Given the description of an element on the screen output the (x, y) to click on. 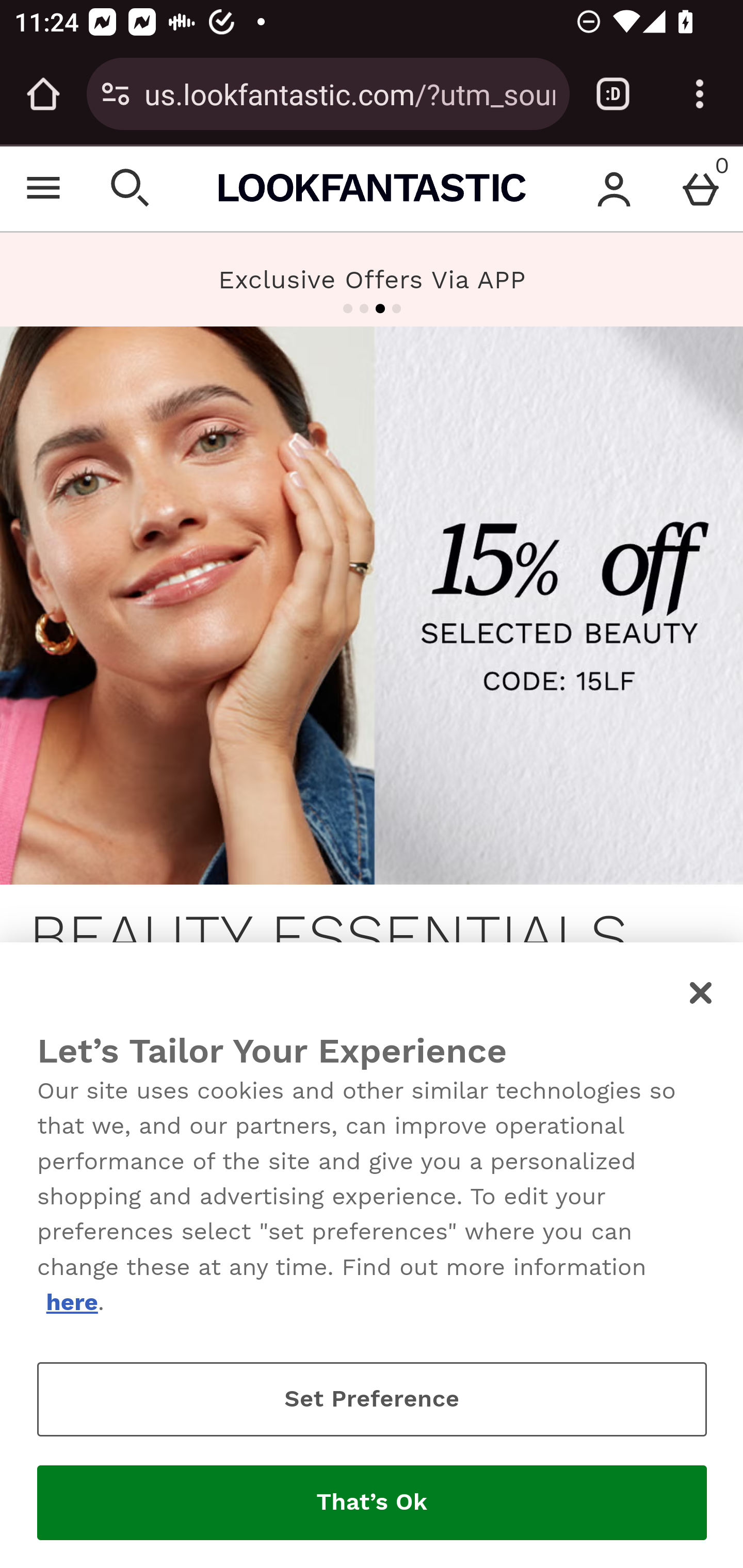
Open the home page (43, 93)
Connection is secure (115, 93)
Switch or close tabs (612, 93)
Customize and control Google Chrome (699, 93)
Open Menu (44, 188)
Open search (130, 188)
Lookfantastic USA (371, 188)
Account menu (614, 188)
Basket Menu (700, 188)
Close (701, 992)
here (71, 1302)
Set Preference (372, 1399)
That’s Ok (372, 1502)
